Given the description of an element on the screen output the (x, y) to click on. 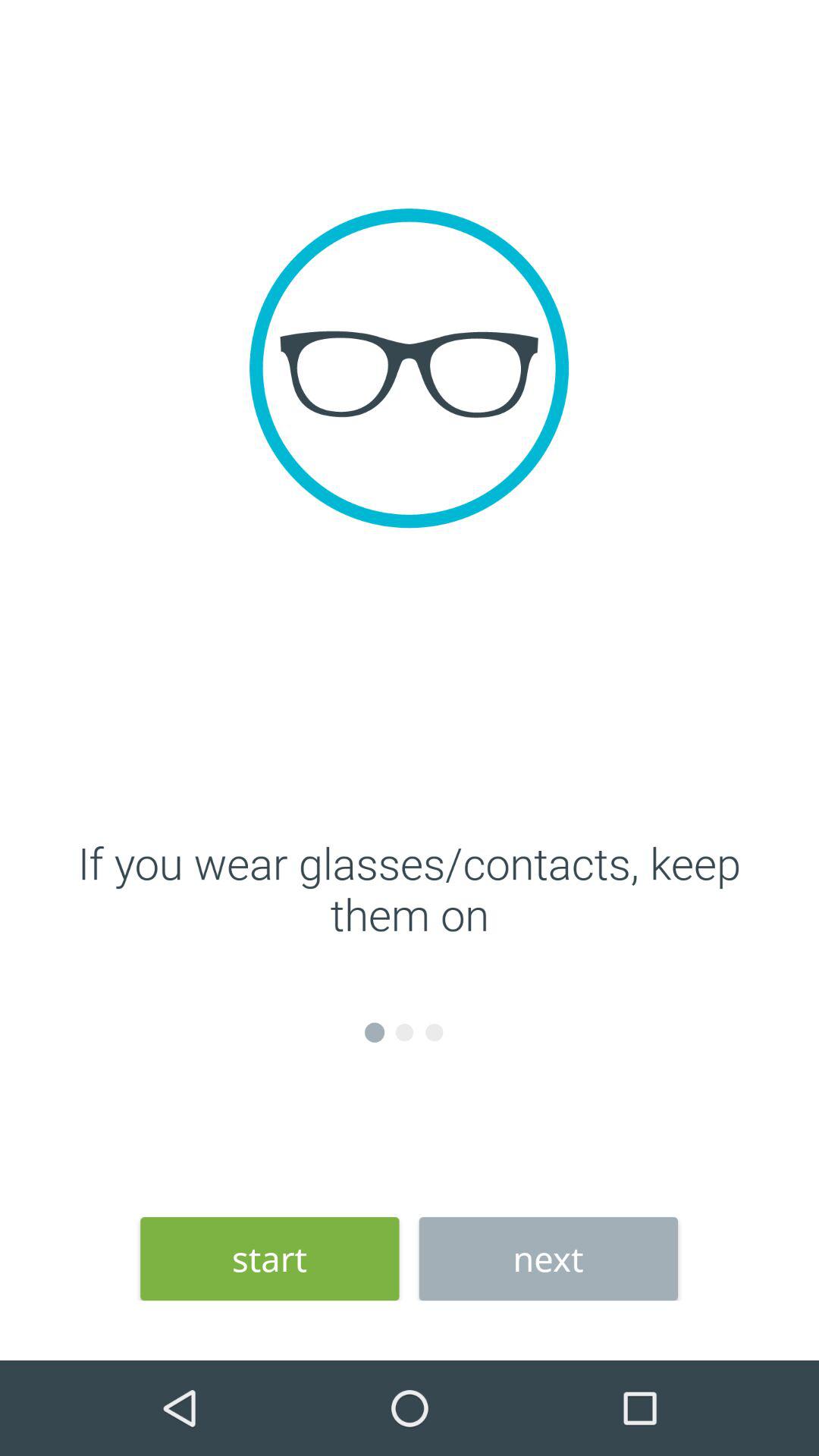
tap icon to the right of the start icon (548, 1258)
